Given the description of an element on the screen output the (x, y) to click on. 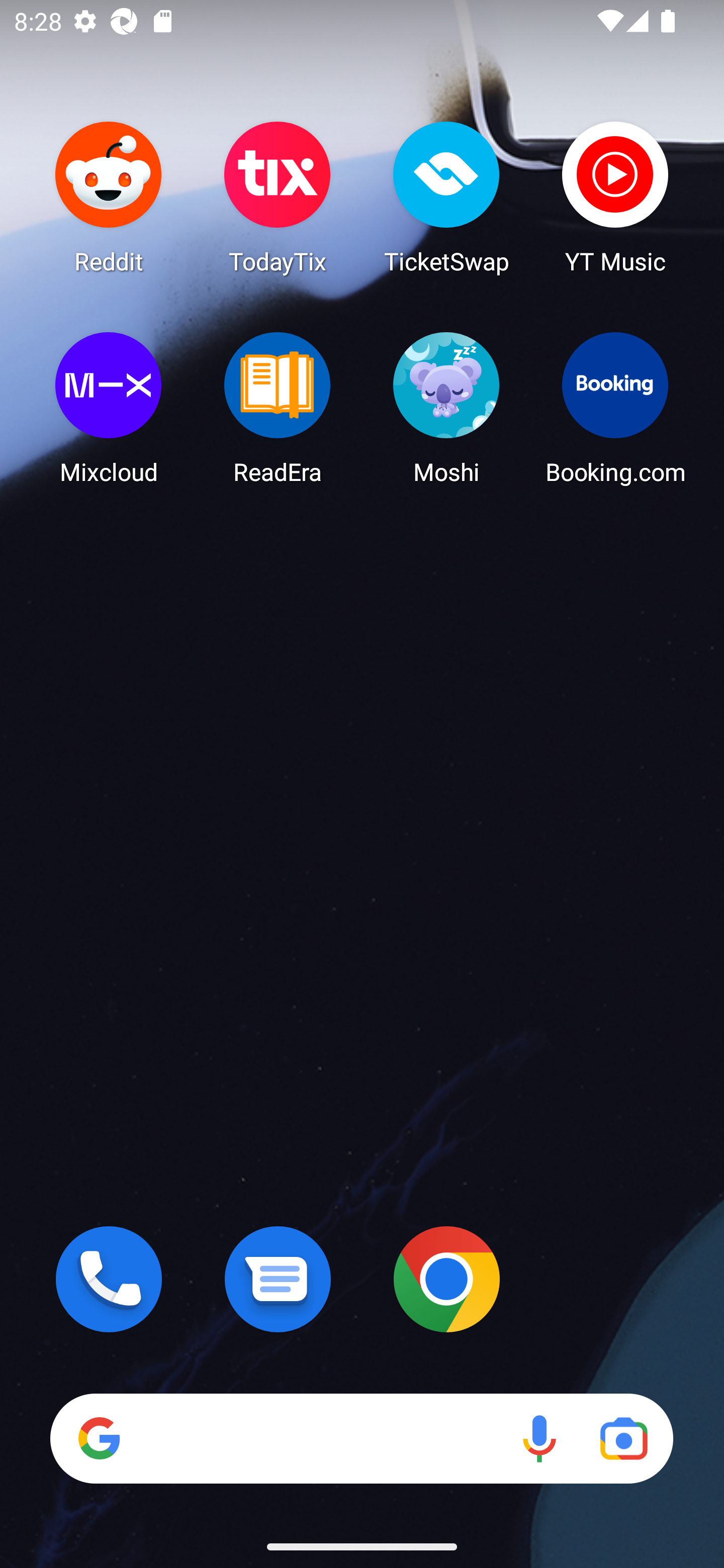
Reddit (108, 196)
TodayTix (277, 196)
TicketSwap (445, 196)
YT Music (615, 196)
Mixcloud (108, 407)
ReadEra (277, 407)
Moshi (445, 407)
Booking.com (615, 407)
Phone (108, 1279)
Messages (277, 1279)
Chrome (446, 1279)
Search Voice search Google Lens (361, 1438)
Voice search (539, 1438)
Google Lens (623, 1438)
